Given the description of an element on the screen output the (x, y) to click on. 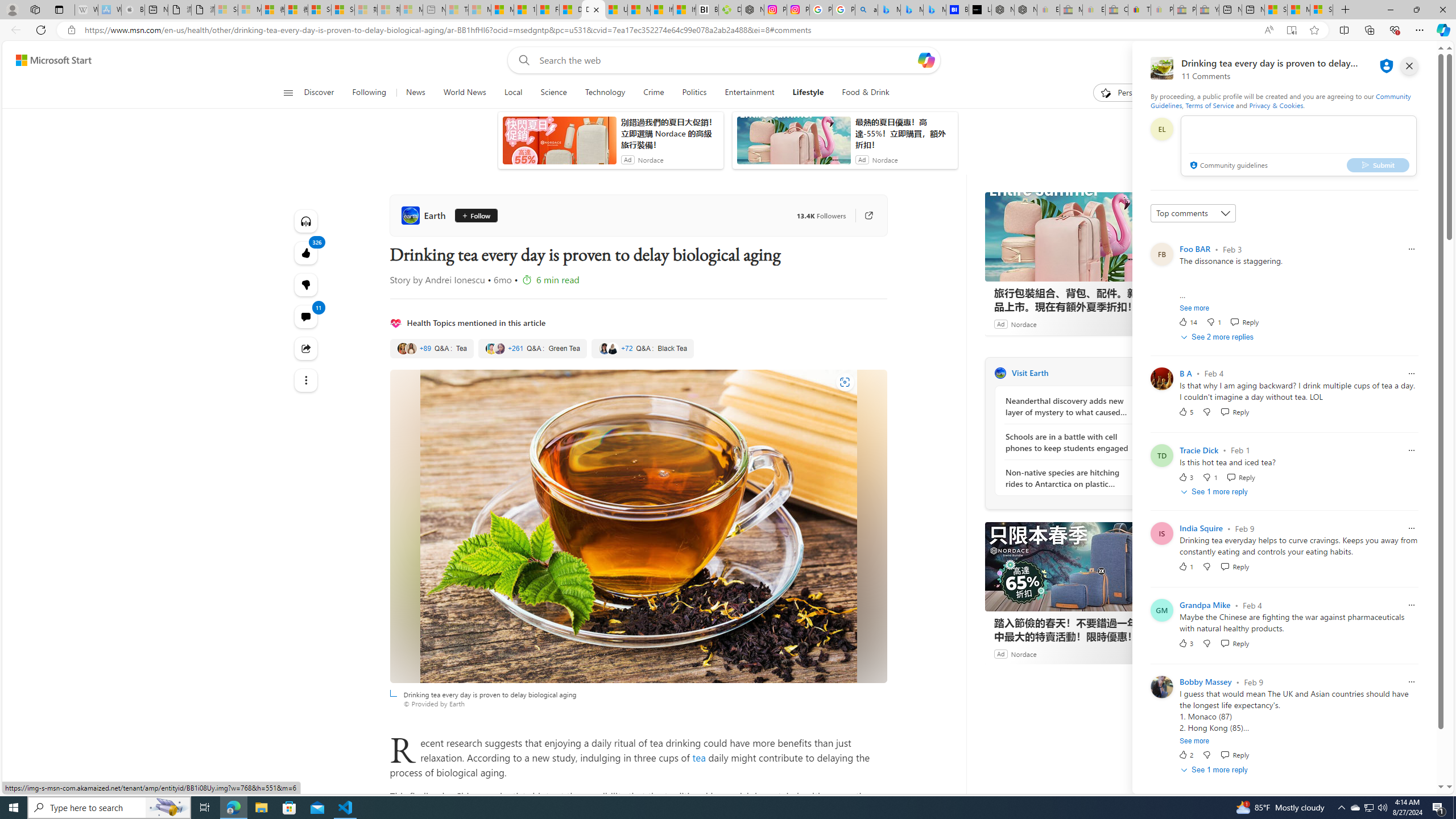
Discover (323, 92)
Sort comments by (1193, 212)
